Given the description of an element on the screen output the (x, y) to click on. 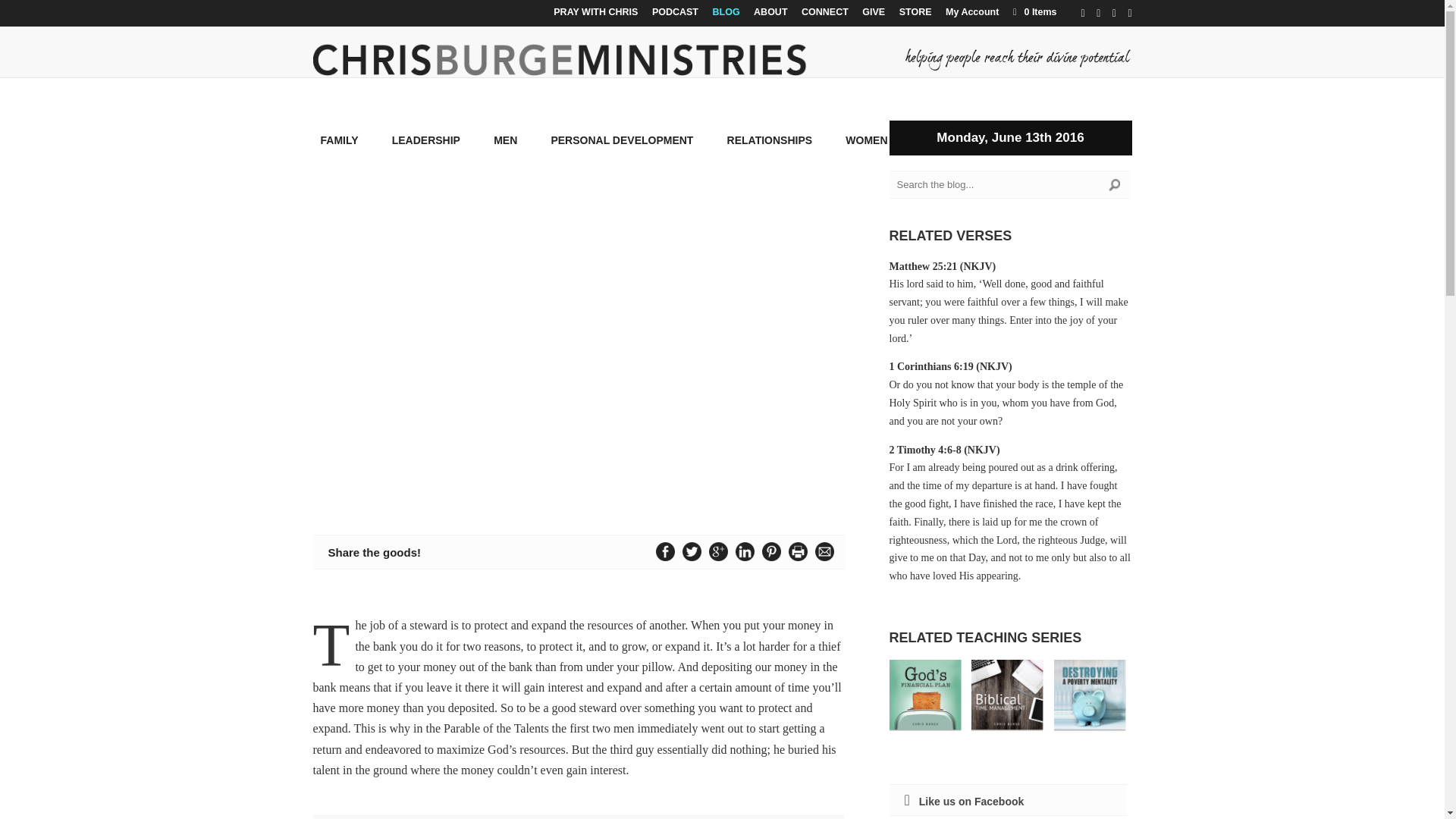
Print this page (797, 551)
PERSONAL DEVELOPMENT (621, 151)
0 Items (1033, 11)
GIVE (873, 16)
Email this page (824, 551)
Tagline (1017, 58)
FAMILY (339, 151)
BLOG (726, 16)
Share this on Facebook (665, 551)
PODCAST (675, 16)
ABOUT (770, 16)
RELATIONSHIPS (769, 151)
Share this on Linkedin (745, 551)
WOMEN (865, 151)
